Given the description of an element on the screen output the (x, y) to click on. 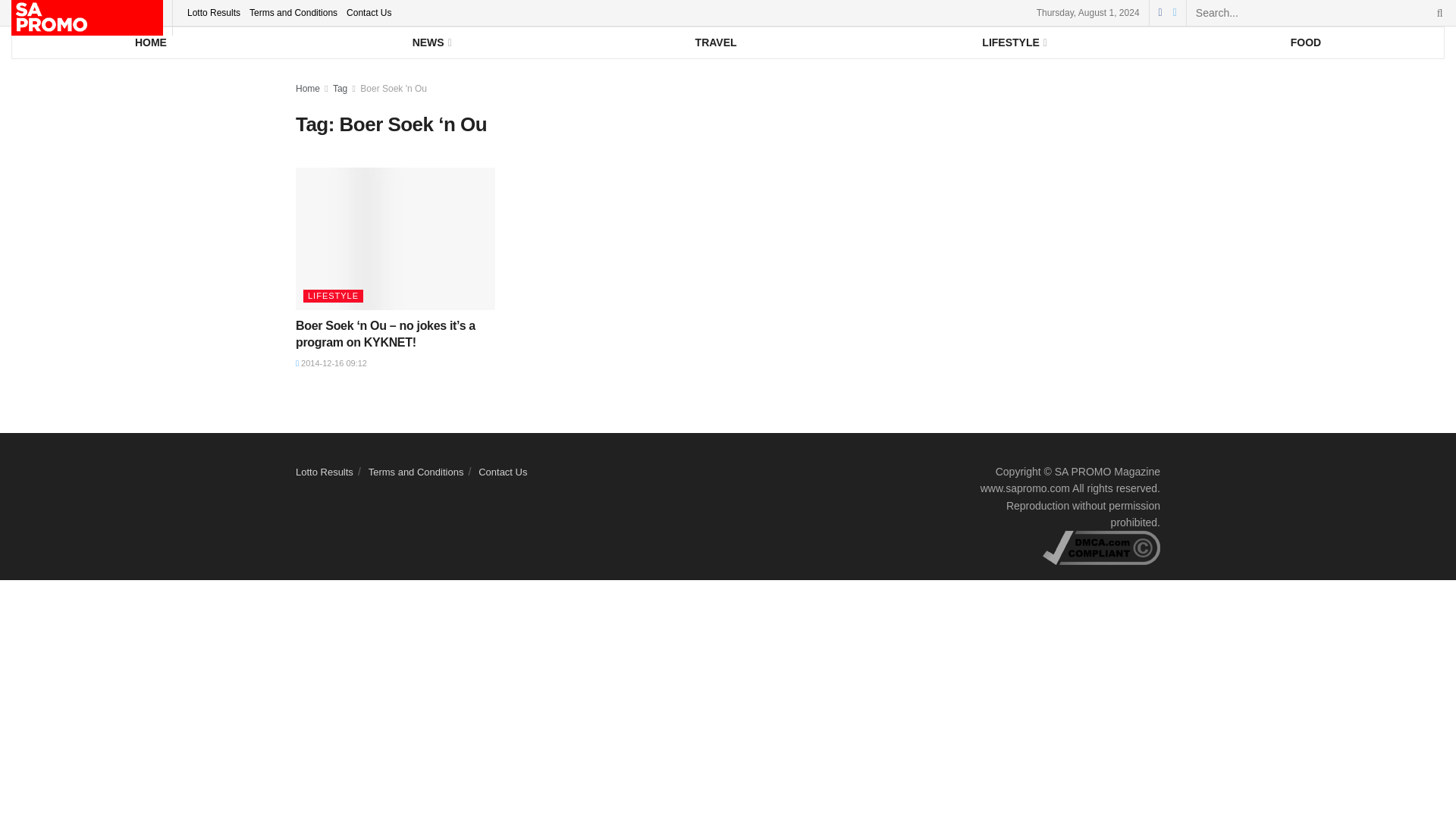
HOME (150, 42)
LIFESTYLE (1013, 42)
FOOD (1305, 42)
Terms and Conditions (292, 12)
NEWS (430, 42)
TRAVEL (716, 42)
Lotto Results (213, 12)
DMCA Compliance information for sapromo.com (1101, 547)
Contact Us (368, 12)
